Given the description of an element on the screen output the (x, y) to click on. 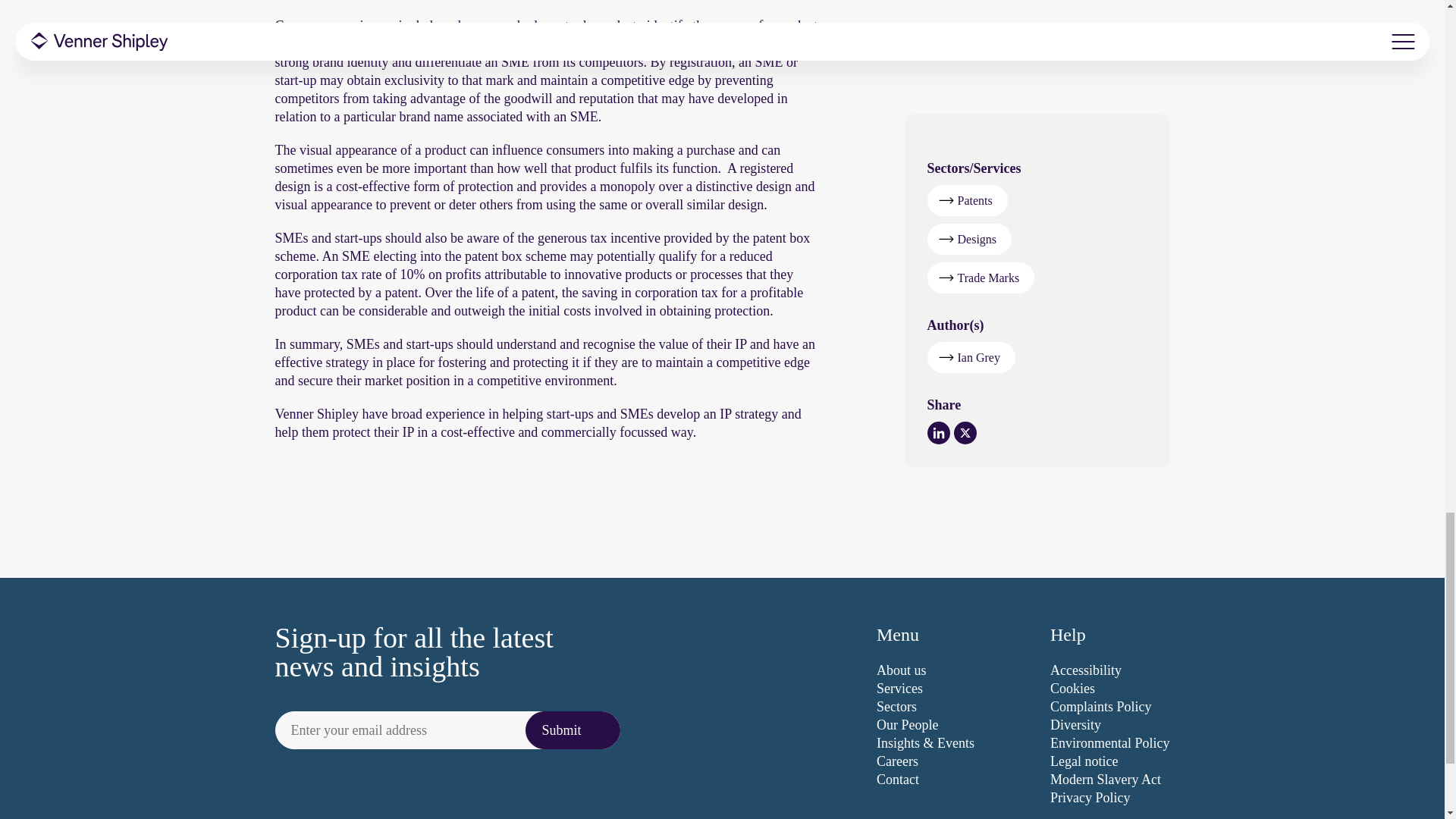
Submit (572, 730)
